Given the description of an element on the screen output the (x, y) to click on. 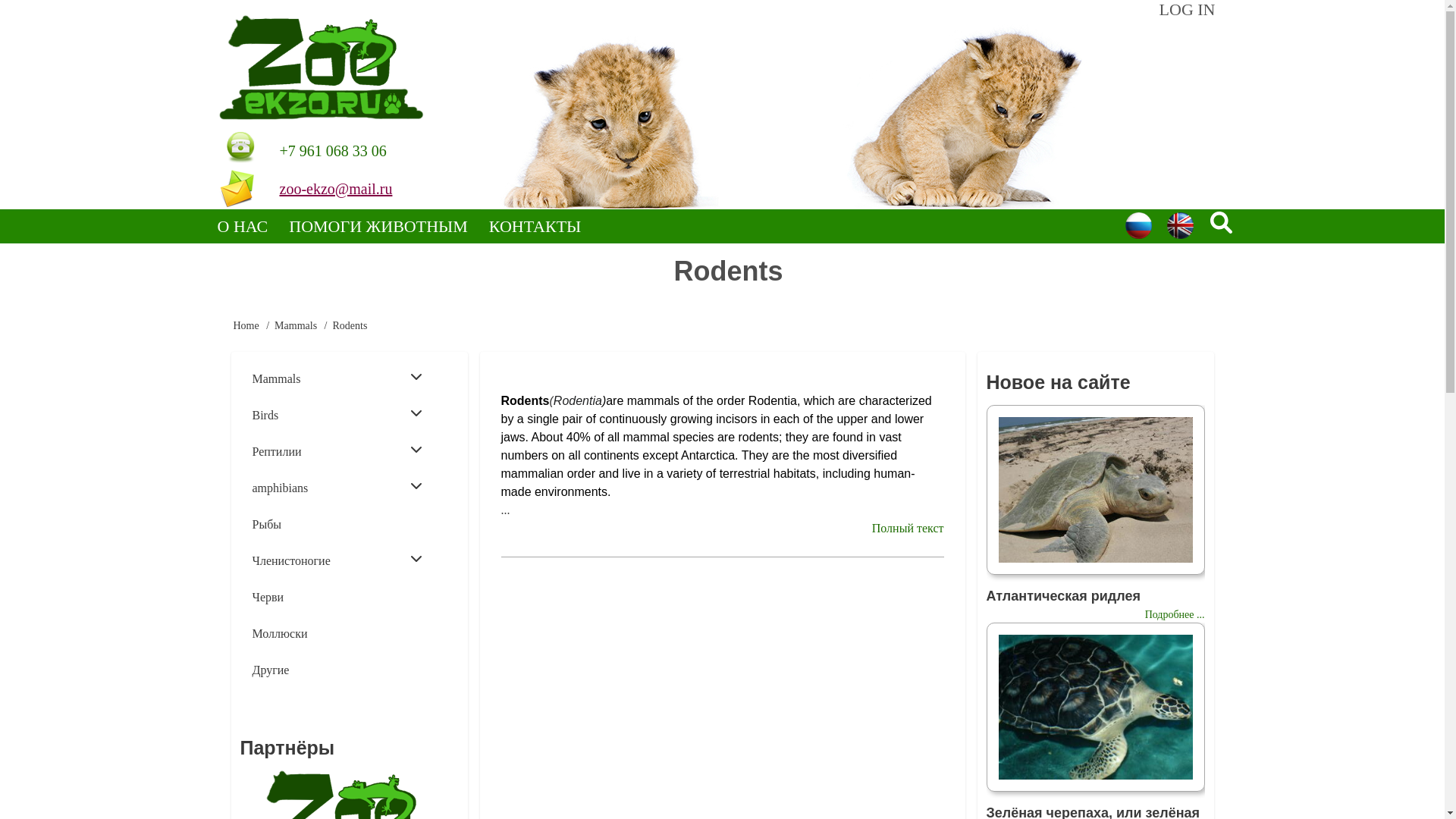
Lepidochelys kempii (1094, 489)
Home (320, 67)
English (1180, 225)
Russian (1138, 225)
